Given the description of an element on the screen output the (x, y) to click on. 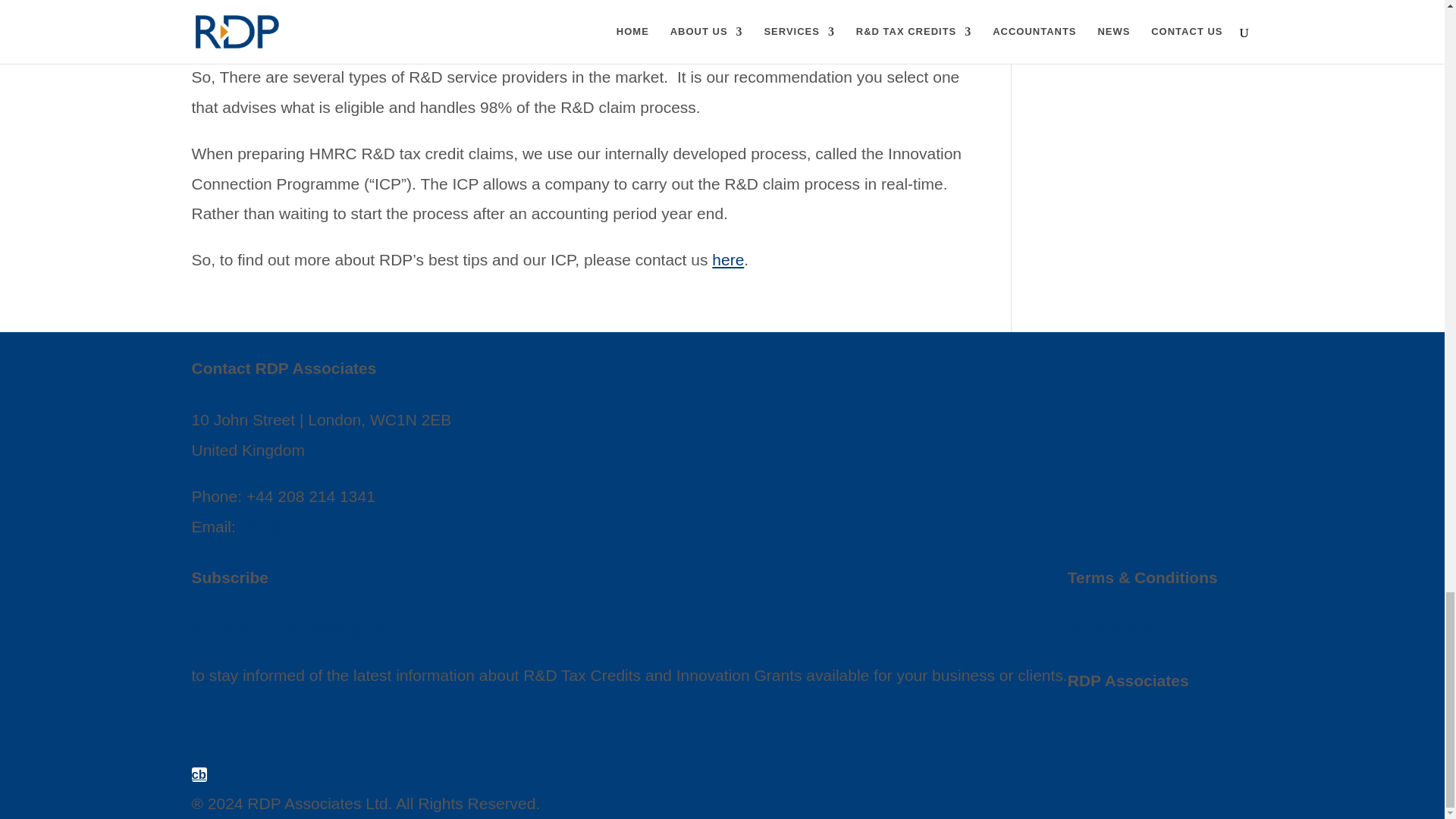
Privacy Policy (1117, 628)
eligible expenditure (663, 4)
Subscribe to our mailing list (287, 628)
here (727, 259)
cb (198, 774)
